Given the description of an element on the screen output the (x, y) to click on. 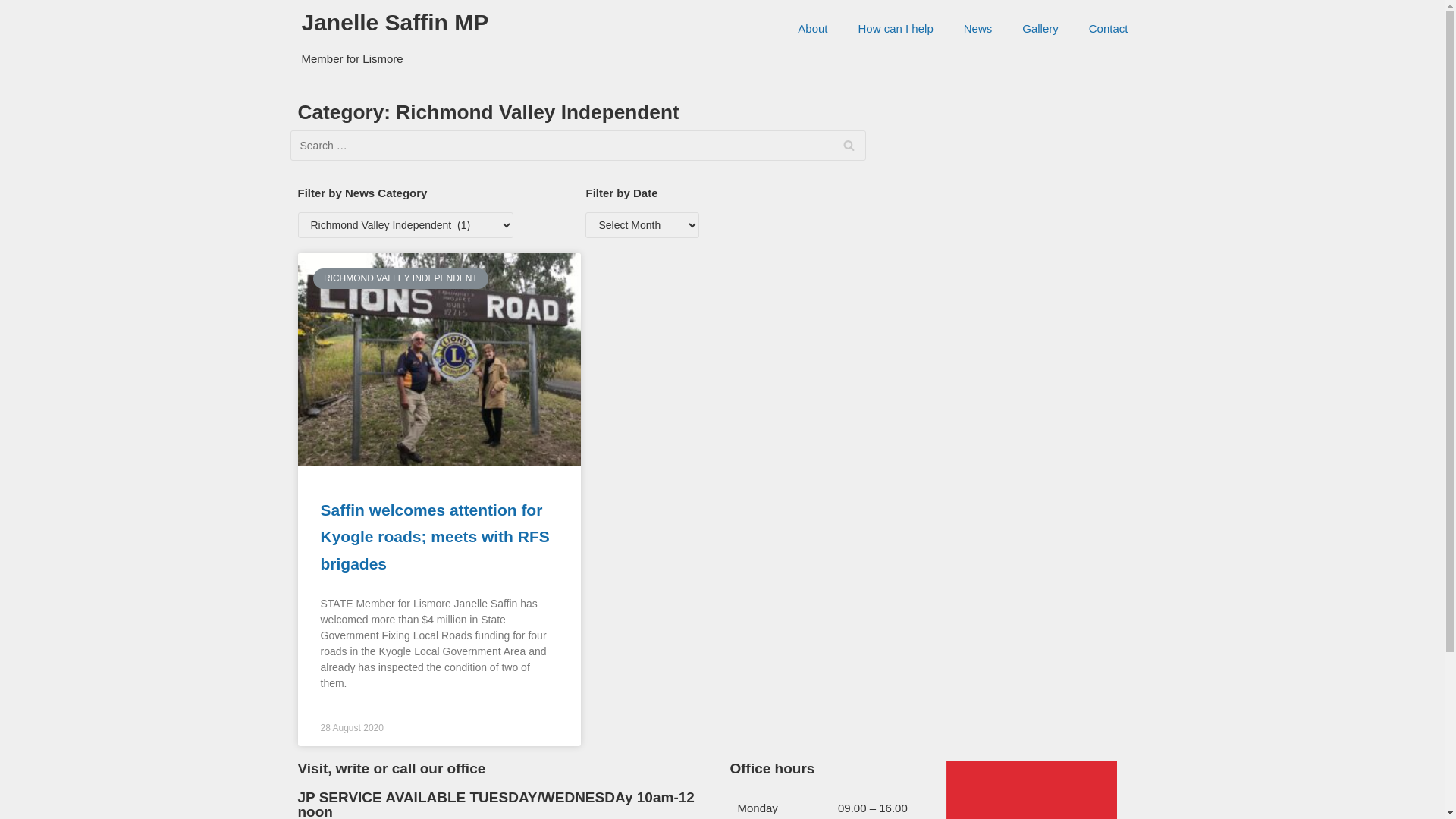
Contact Element type: text (1108, 28)
Skip to content Element type: text (15, 7)
Janelle Saffin MP Element type: text (395, 21)
Search Element type: text (848, 145)
About Element type: text (812, 28)
News Element type: text (977, 28)
Gallery Element type: text (1040, 28)
How can I help Element type: text (895, 28)
